Given the description of an element on the screen output the (x, y) to click on. 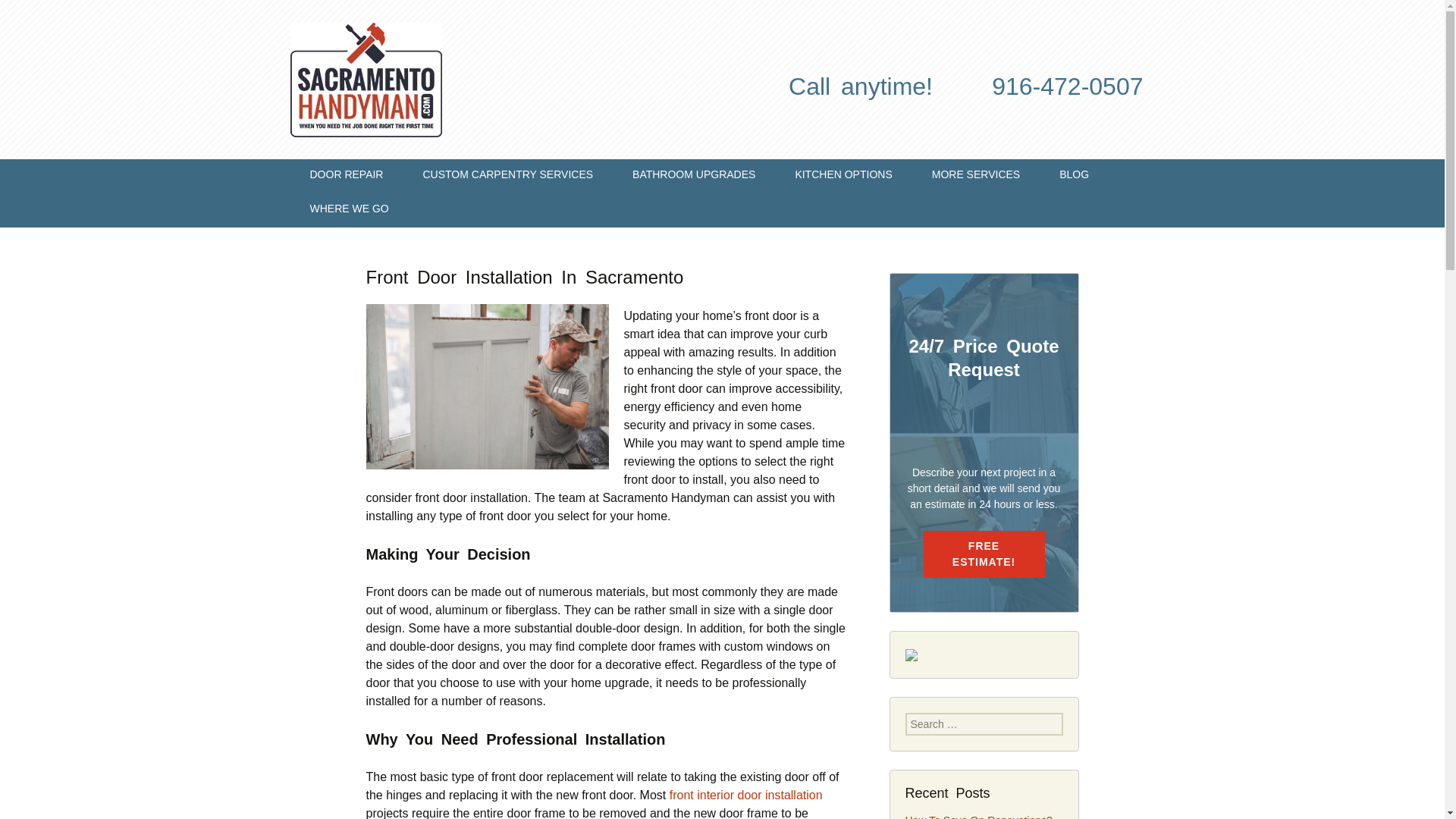
BATHROOM UPGRADES (693, 175)
KITCHEN OPTIONS (842, 175)
MORE SERVICES (975, 175)
DOOR REPAIR (346, 175)
CUSTOM CARPENTRY SERVICES (507, 175)
916-472-0507 (1066, 85)
